Given the description of an element on the screen output the (x, y) to click on. 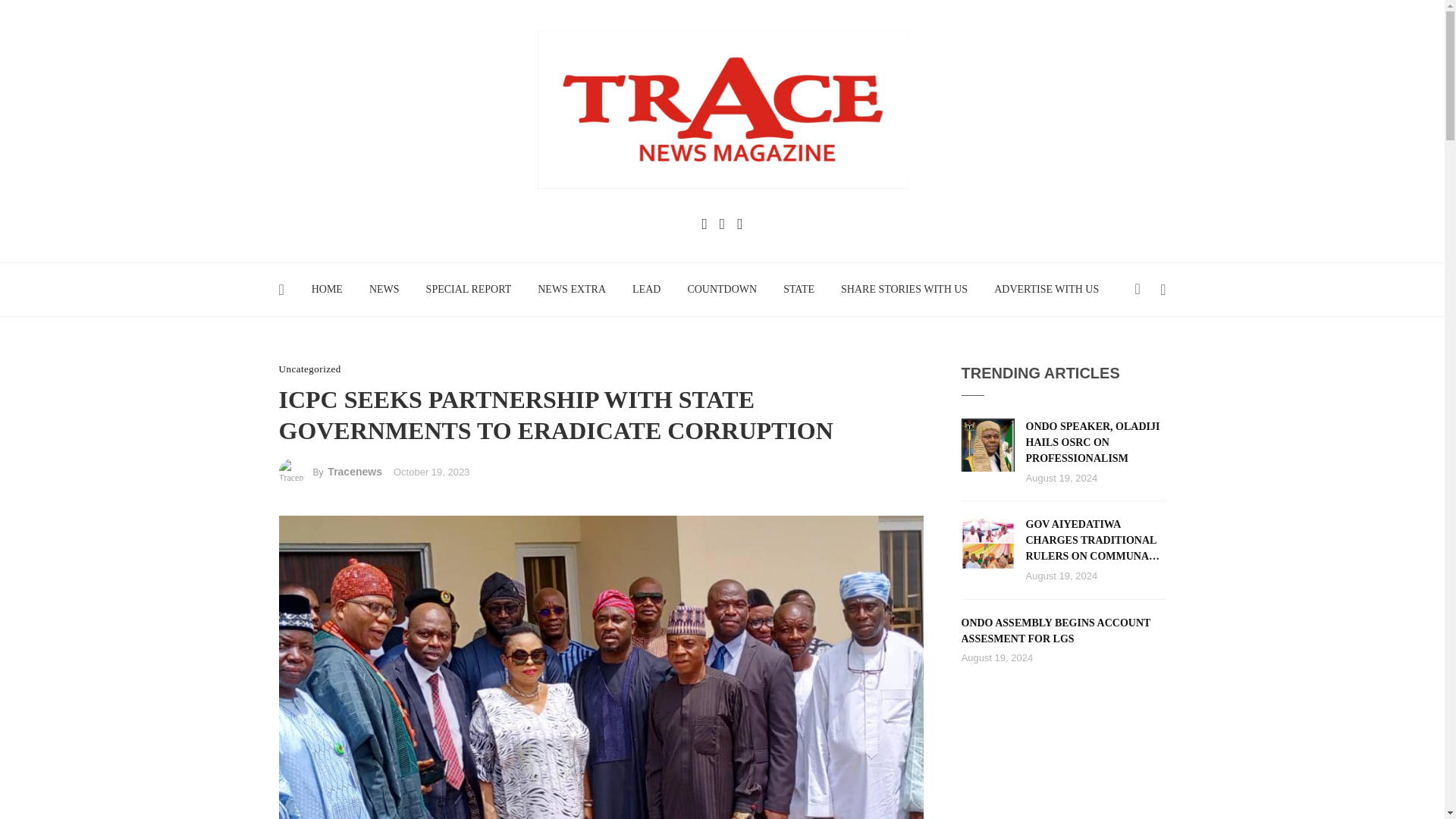
NEWS EXTRA (572, 289)
Uncategorized (309, 368)
COUNTDOWN (722, 289)
HOME (326, 289)
ADVERTISE WITH US (1046, 289)
SHARE STORIES WITH US (904, 289)
SPECIAL REPORT (468, 289)
LEAD (647, 289)
NEWS (383, 289)
STATE (799, 289)
